Given the description of an element on the screen output the (x, y) to click on. 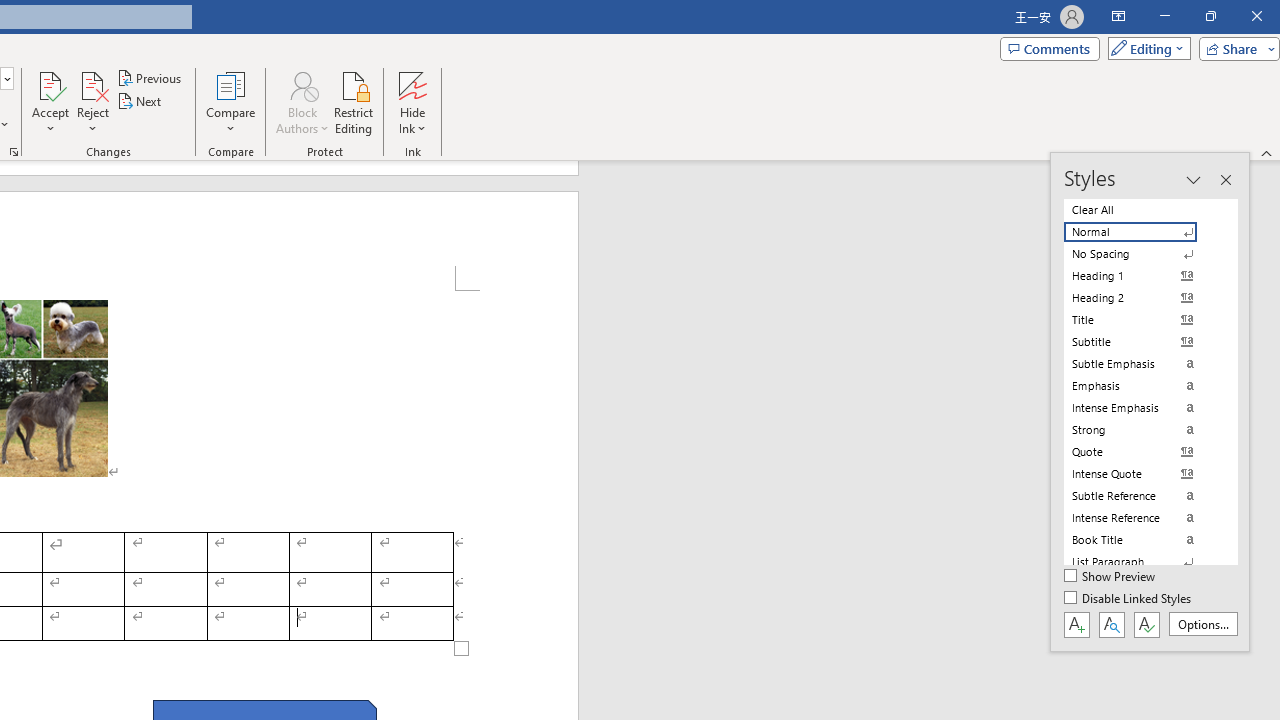
Clear All (1142, 209)
Intense Quote (1142, 473)
Hide Ink (412, 102)
Previous (150, 78)
Strong (1142, 429)
Options... (1202, 623)
Restrict Editing (353, 102)
Hide Ink (412, 84)
Intense Reference (1142, 517)
Reject (92, 102)
Quote (1142, 451)
Book Title (1142, 539)
Subtle Reference (1142, 495)
